Given the description of an element on the screen output the (x, y) to click on. 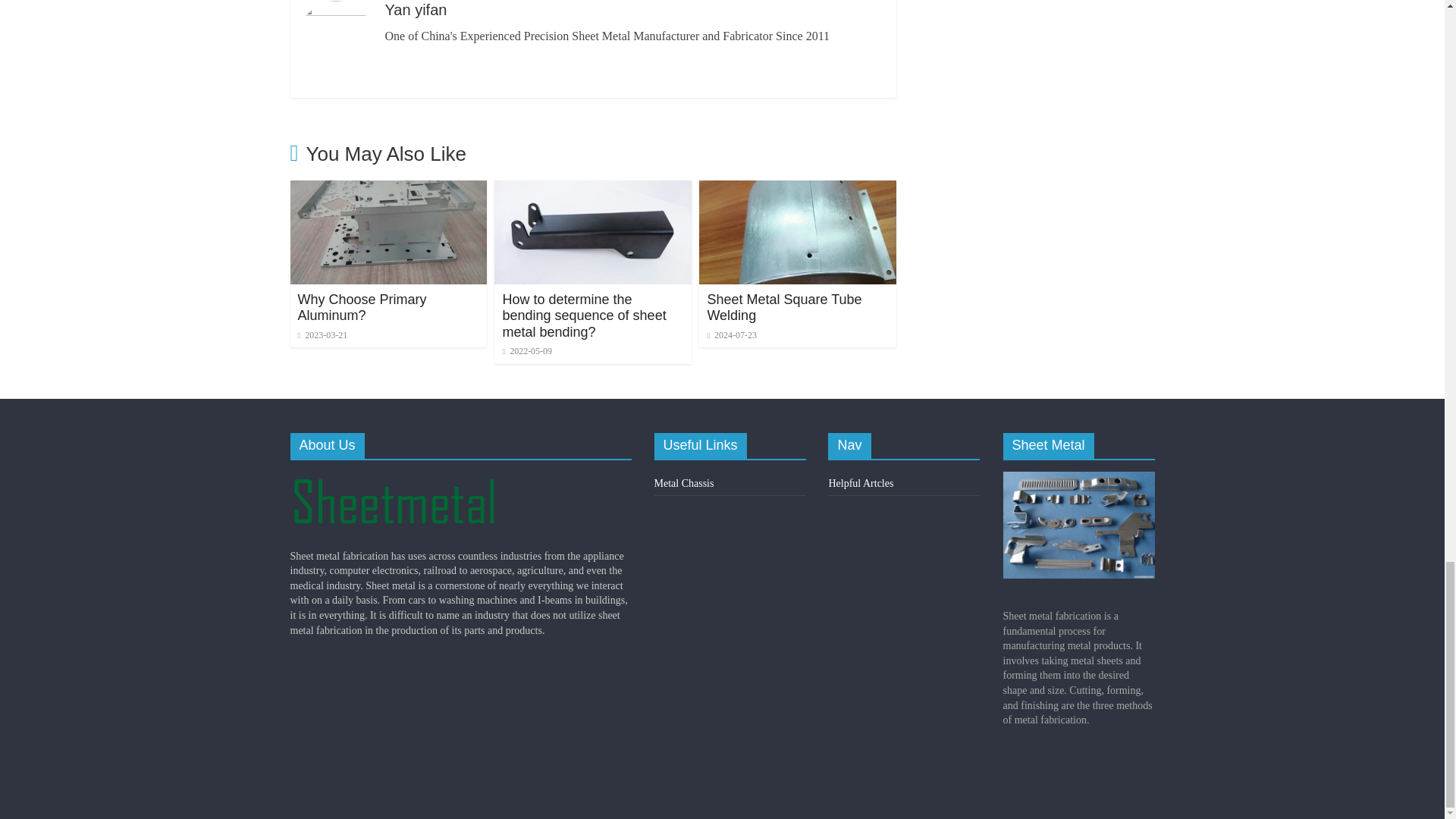
Why Choose Primary Aluminum? (361, 307)
Why Choose Primary Aluminum? (387, 189)
1:23 am (322, 335)
